Given the description of an element on the screen output the (x, y) to click on. 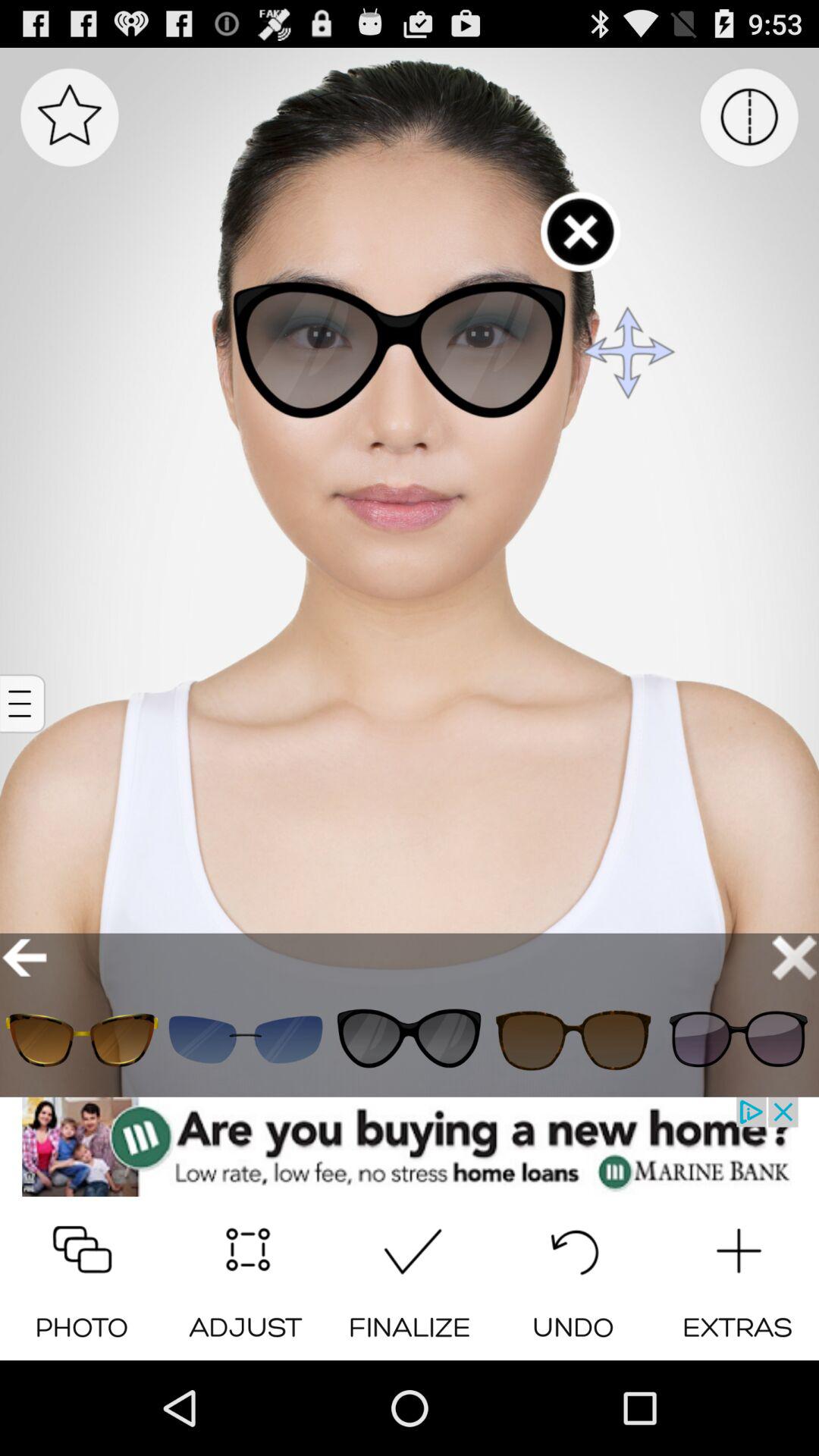
open an advertisements (409, 1146)
